Given the description of an element on the screen output the (x, y) to click on. 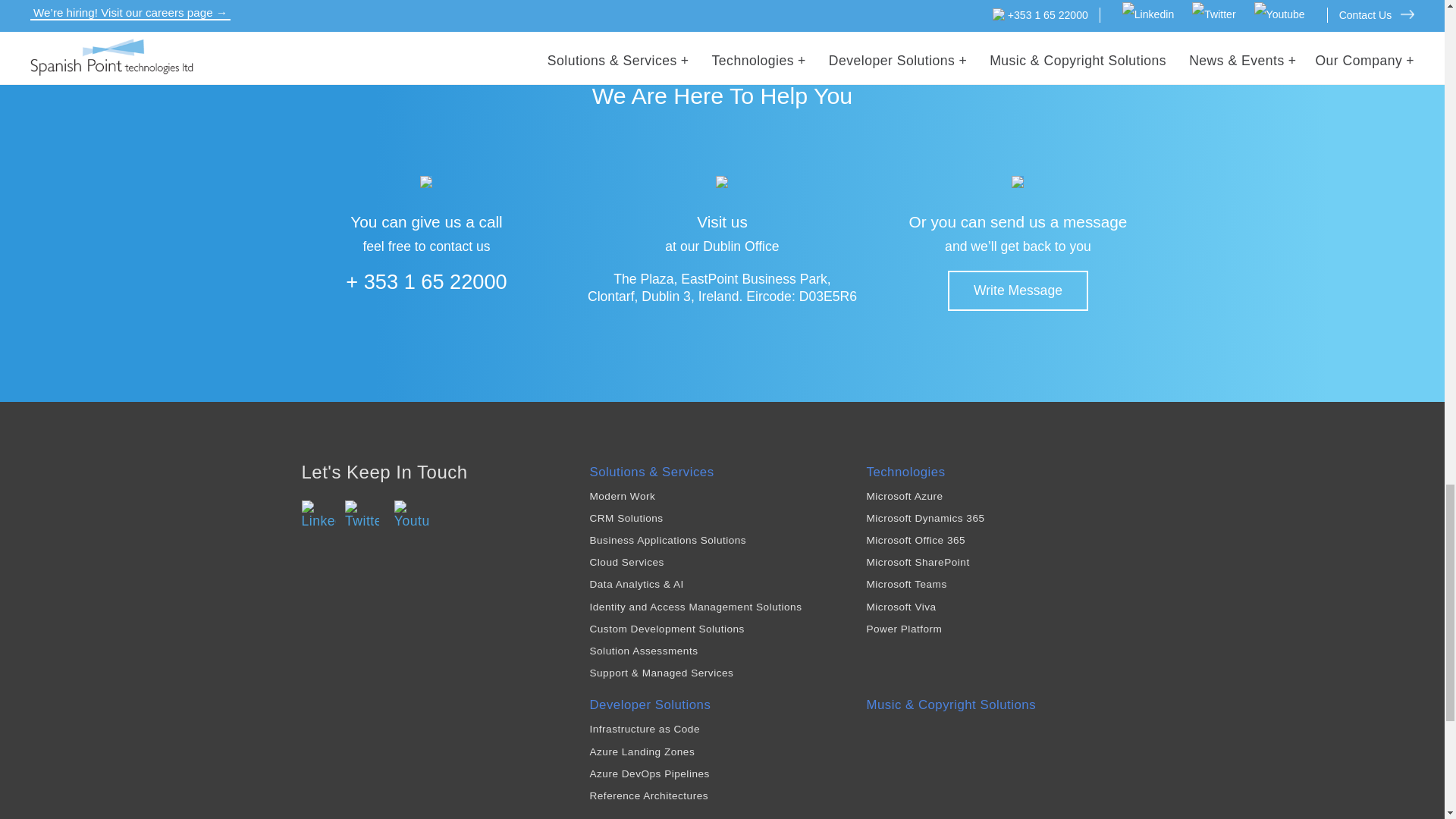
Spanish Point Linkedin (318, 514)
Spanish Point Twitter (361, 514)
Spanish Point YouTube (411, 514)
